Given the description of an element on the screen output the (x, y) to click on. 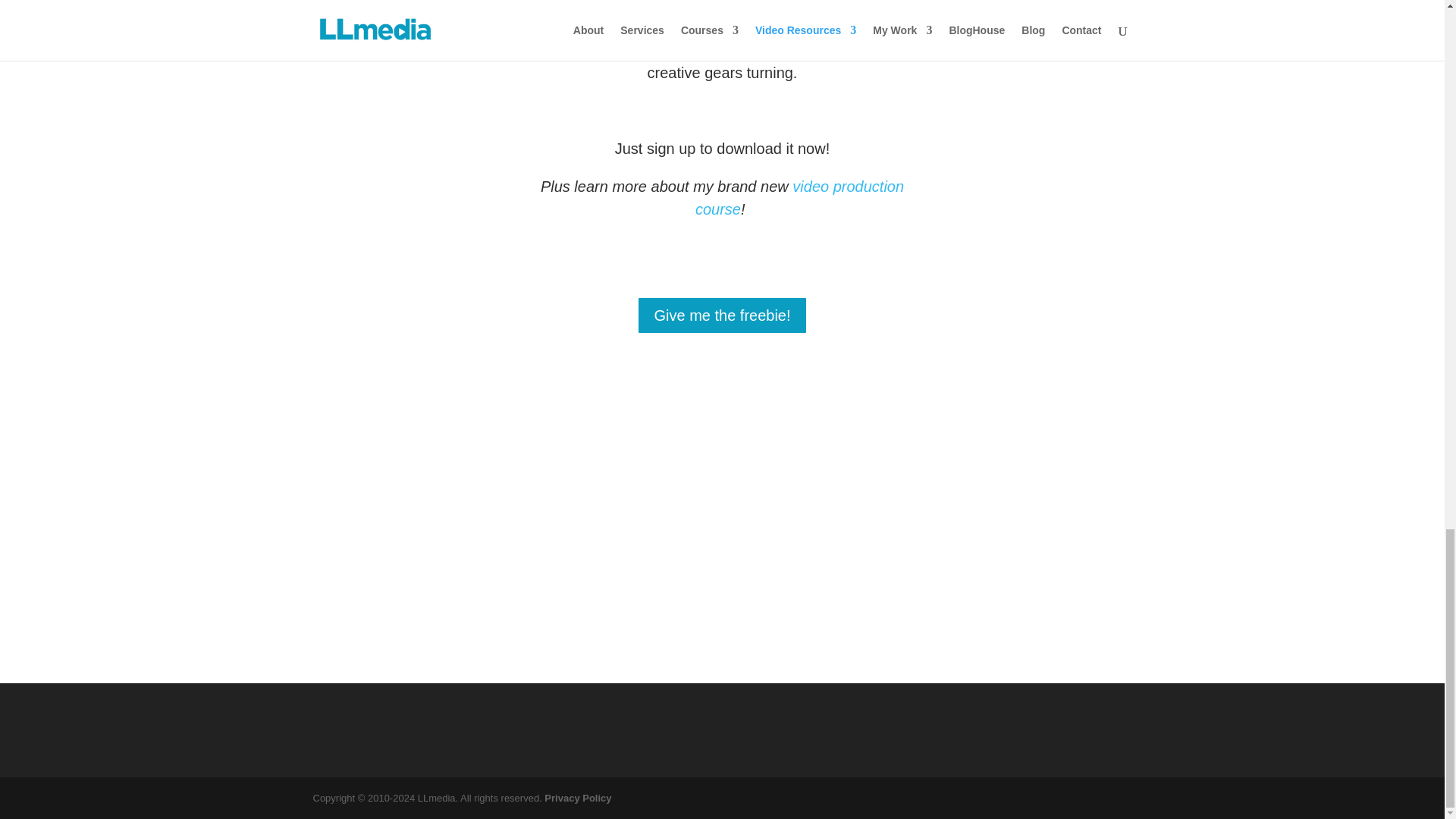
Privacy Policy (577, 797)
Page 3 (721, 148)
video production course (799, 197)
Give me the freebie! (721, 315)
